Given the description of an element on the screen output the (x, y) to click on. 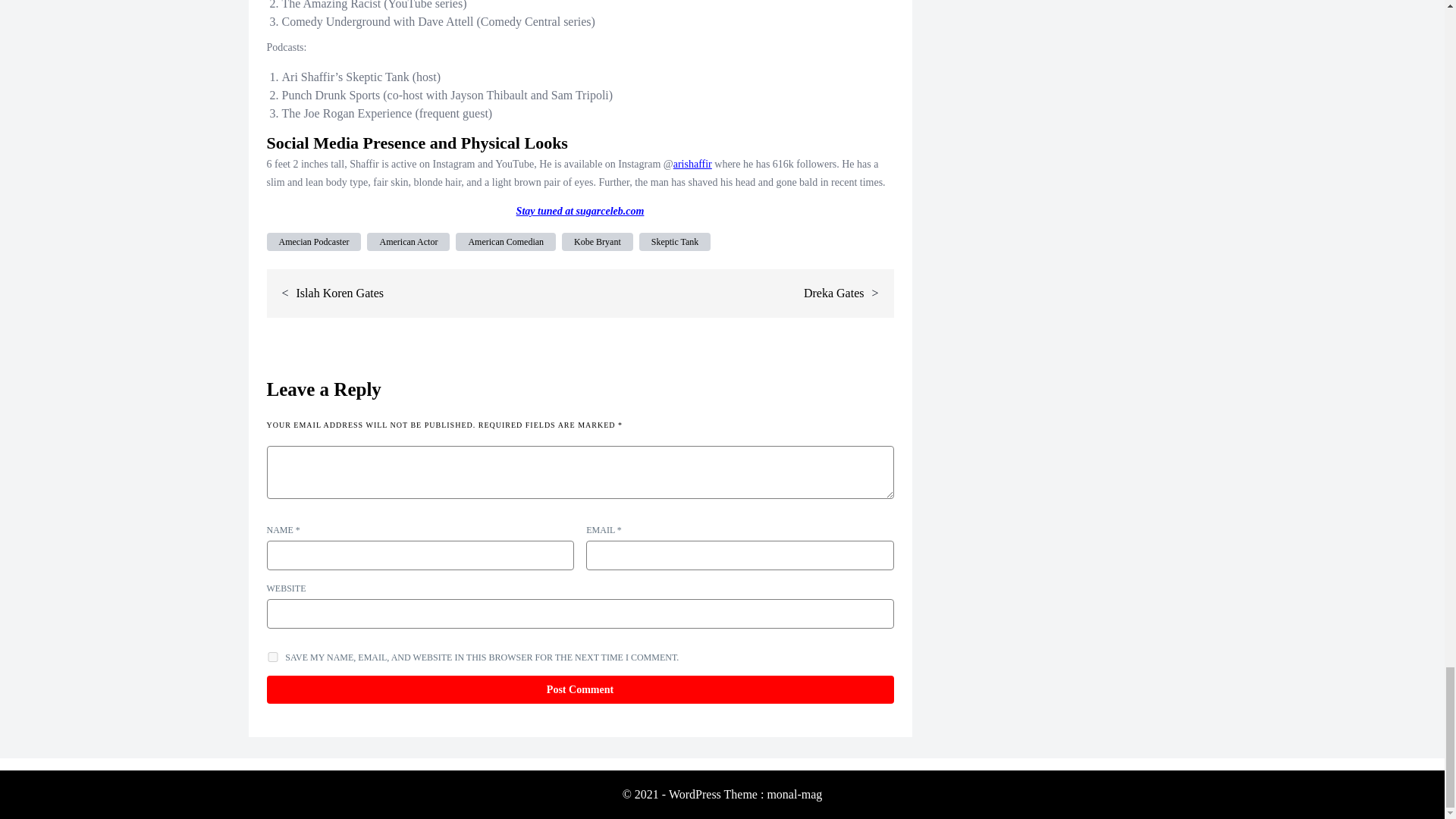
Skeptic Tank (675, 241)
arishaffir (691, 163)
Islah Koren Gates (340, 292)
yes (272, 656)
Amecian Podcaster (313, 241)
Post Comment (579, 689)
American Actor (407, 241)
Dreka Gates (833, 292)
Kobe Bryant (597, 241)
American Comedian (505, 241)
